Given the description of an element on the screen output the (x, y) to click on. 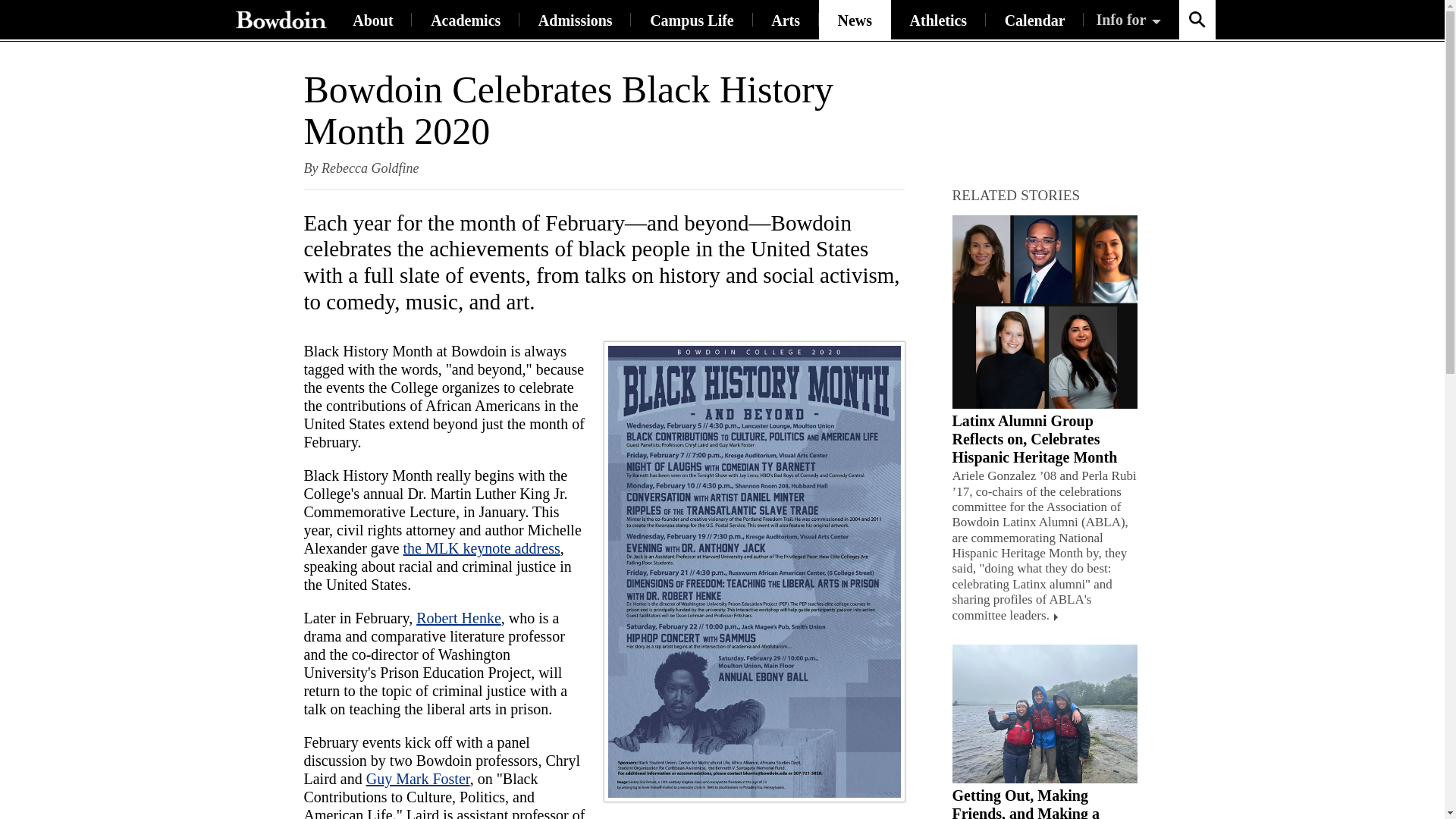
Academics (465, 19)
Guy Mark Foster (418, 778)
Athletics (938, 19)
Arts (785, 19)
Info for (1129, 19)
Calendar (1034, 19)
Campus Life (691, 19)
About (372, 19)
Robert Henke (458, 617)
Bowdoin College Home (279, 19)
Getting Out, Making Friends, and Making a Difference (1025, 803)
the MLK keynote address (481, 547)
Search Bowdoin College (1195, 19)
Information For (1129, 19)
